Given the description of an element on the screen output the (x, y) to click on. 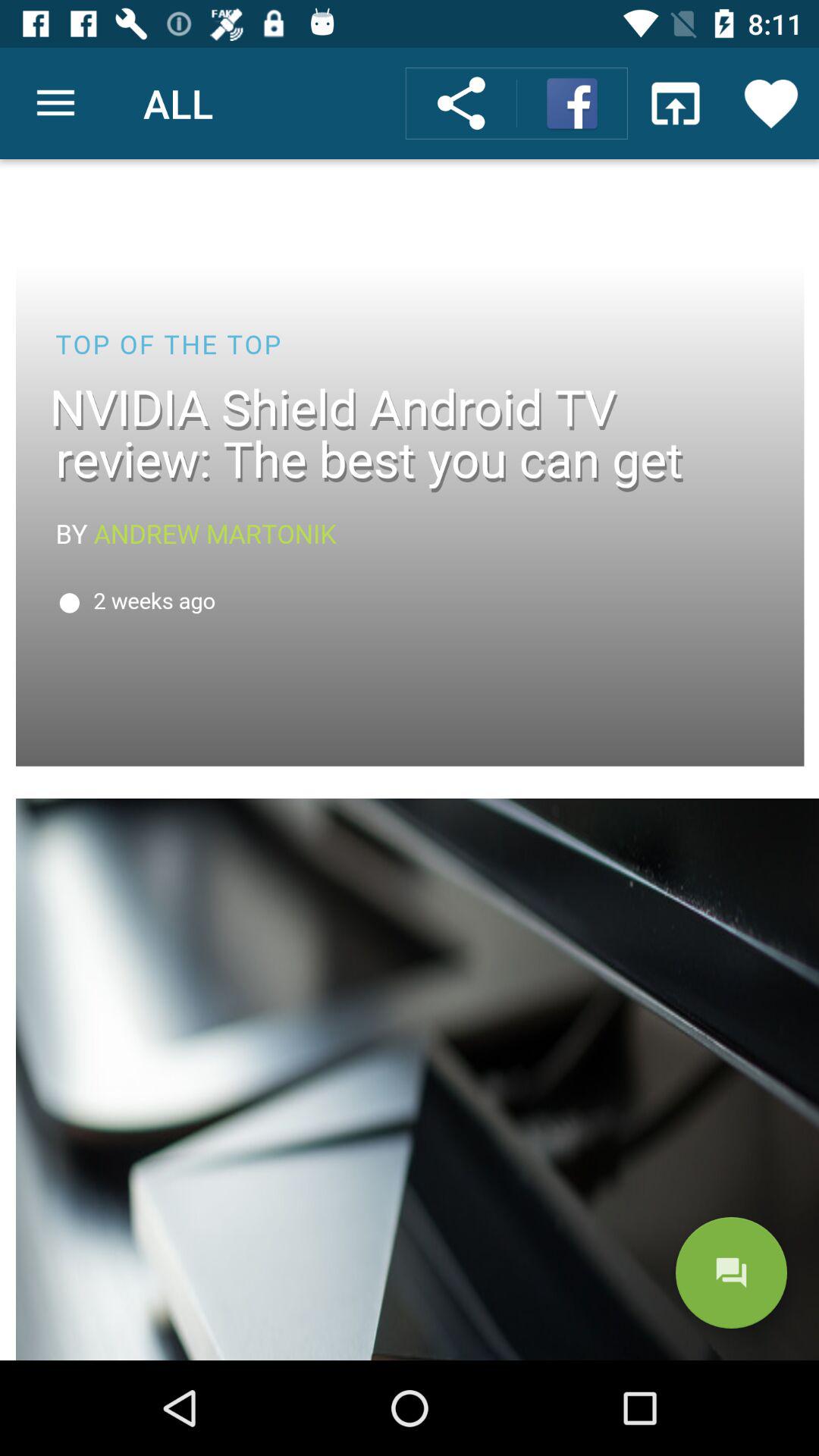
advertisement (409, 759)
